Given the description of an element on the screen output the (x, y) to click on. 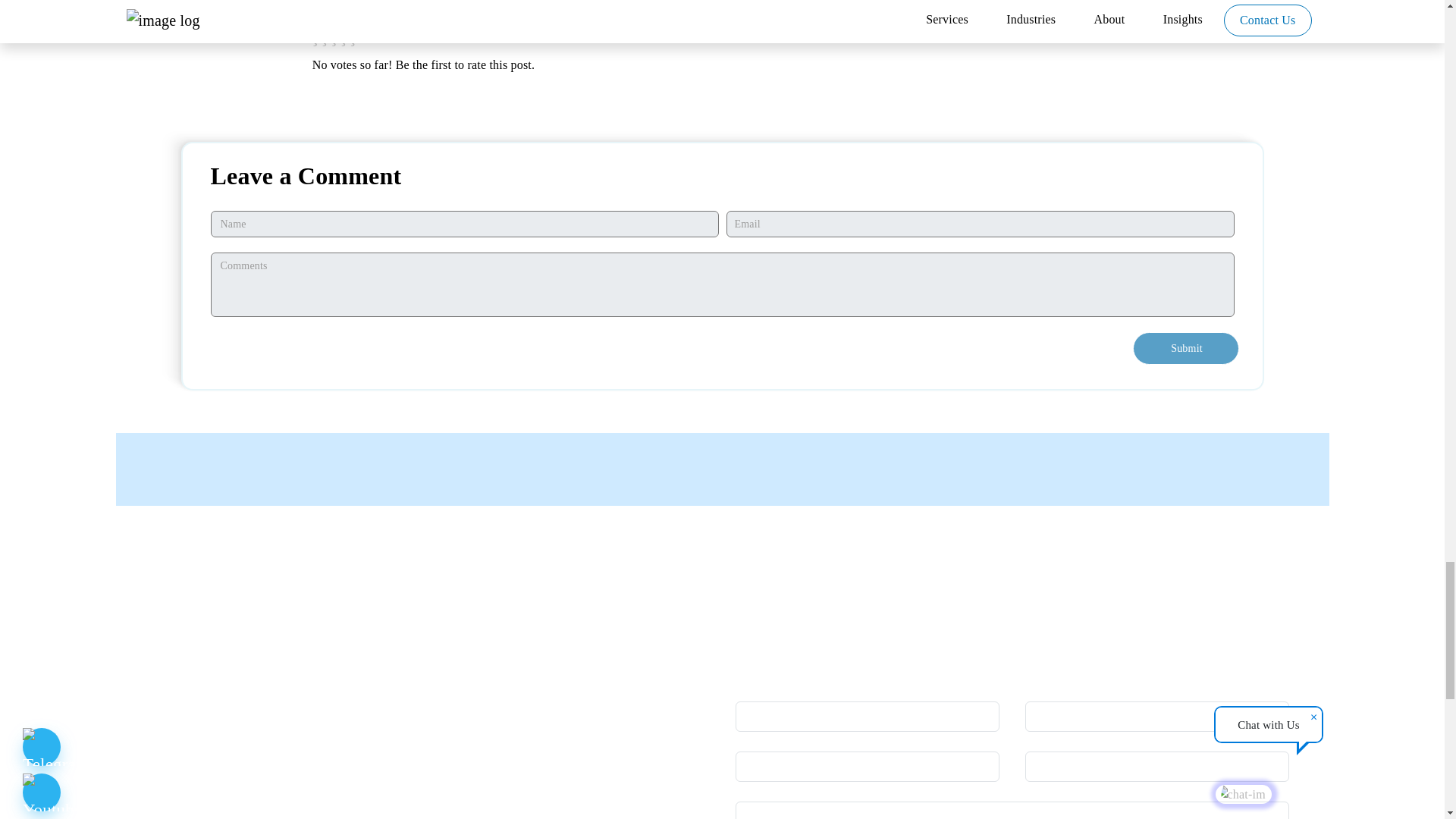
pinterest (1072, 4)
like (230, 12)
twitter (1013, 4)
facebook (951, 4)
mail (1129, 4)
